Given the description of an element on the screen output the (x, y) to click on. 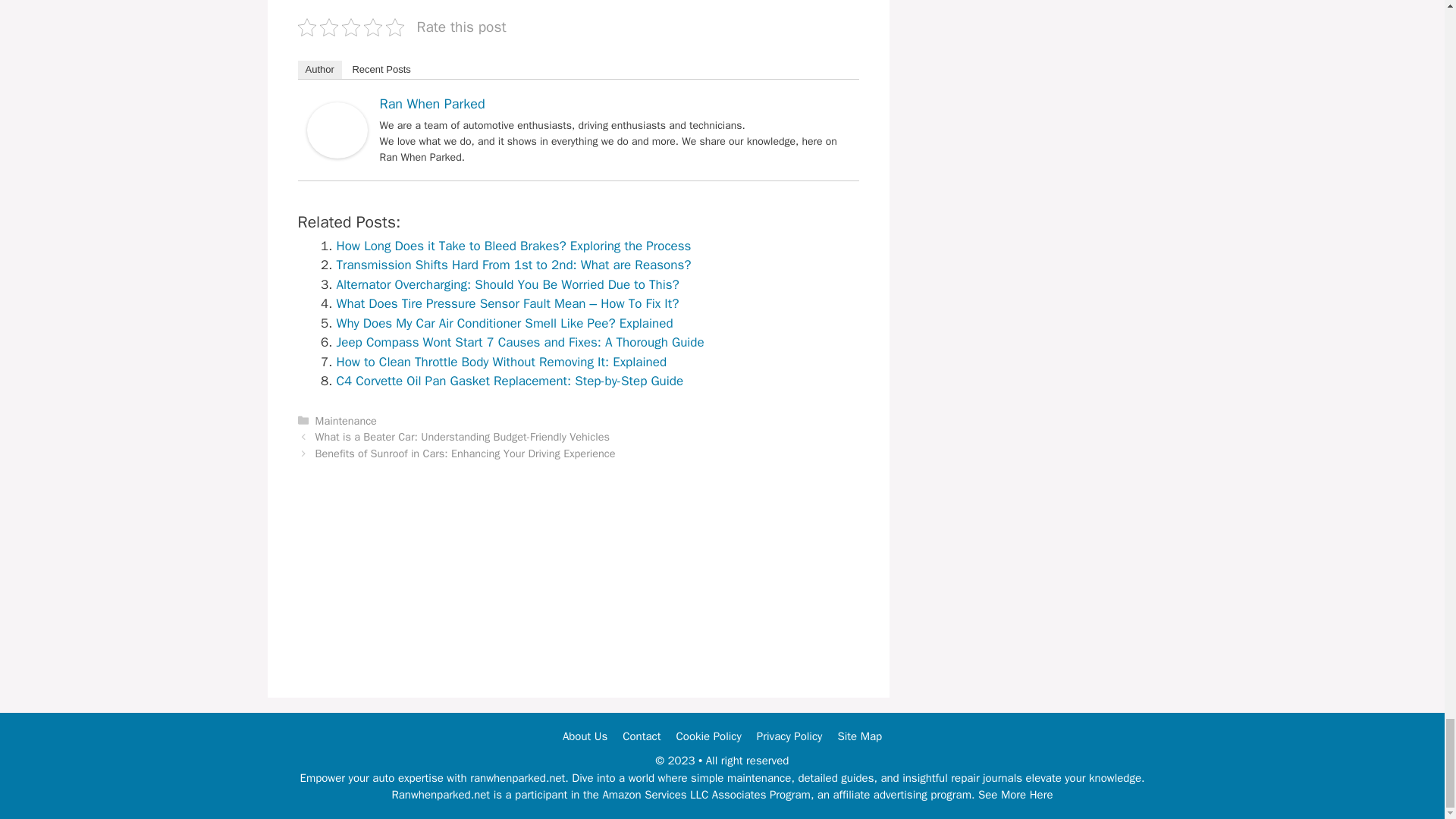
C4 Corvette Oil Pan Gasket Replacement: Step-by-Step Guide (510, 381)
How to Clean Throttle Body Without Removing It: Explained (501, 361)
Jeep Compass Wont Start 7 Causes and Fixes: A Thorough Guide (520, 342)
Ran When Parked (335, 154)
Transmission Shifts Hard From 1st to 2nd: What are Reasons? (513, 264)
Alternator Overcharging: Should You Be Worried Due to This? (507, 284)
How Long Does it Take to Bleed Brakes? Exploring the Process (513, 245)
Why Does My Car Air Conditioner Smell Like Pee? Explained (504, 323)
